Given the description of an element on the screen output the (x, y) to click on. 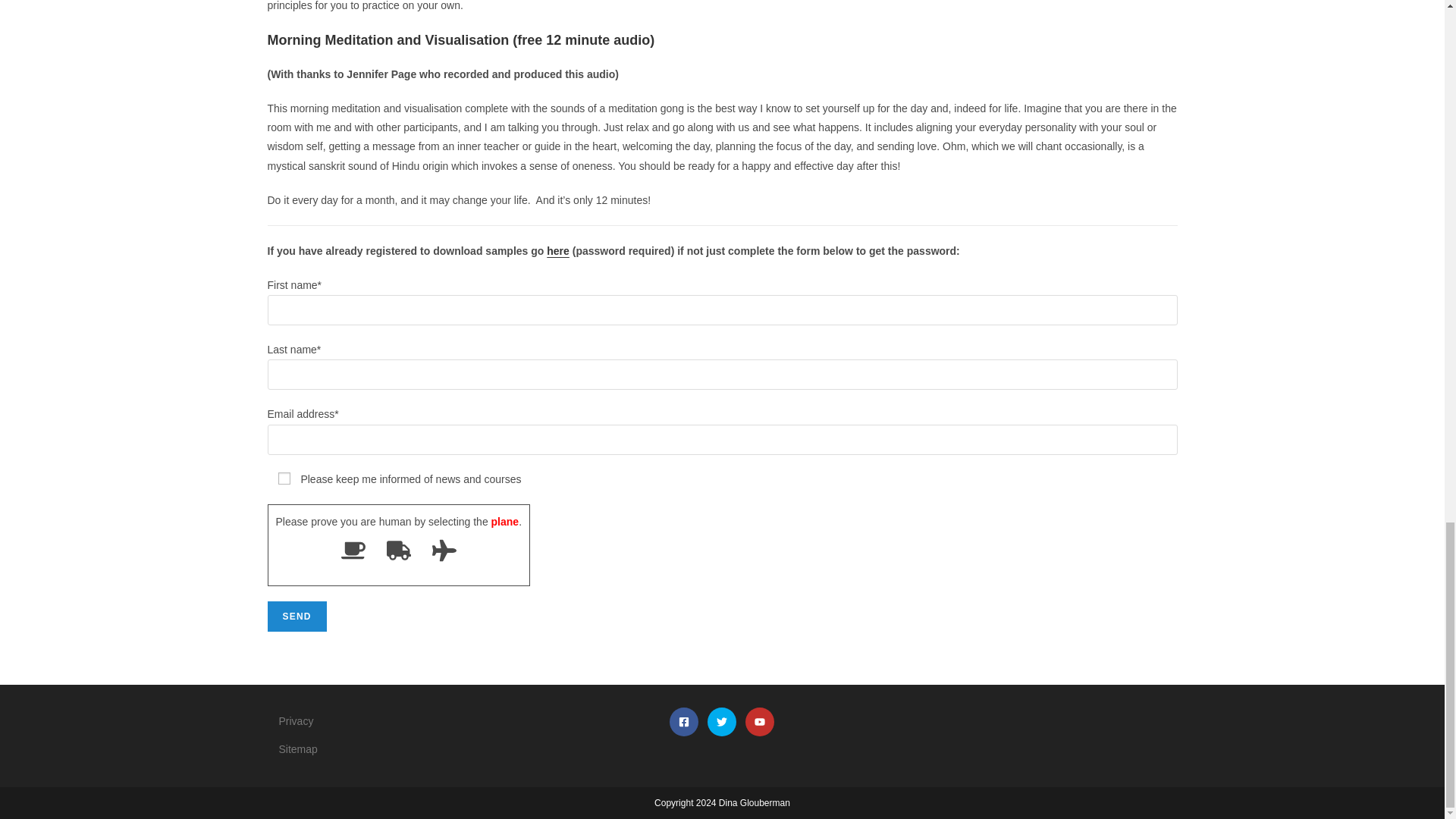
Please keep me informed of news and courses (283, 478)
Sitemap (298, 748)
Privacy (296, 720)
Send (296, 616)
Sample downloads (558, 250)
